Given the description of an element on the screen output the (x, y) to click on. 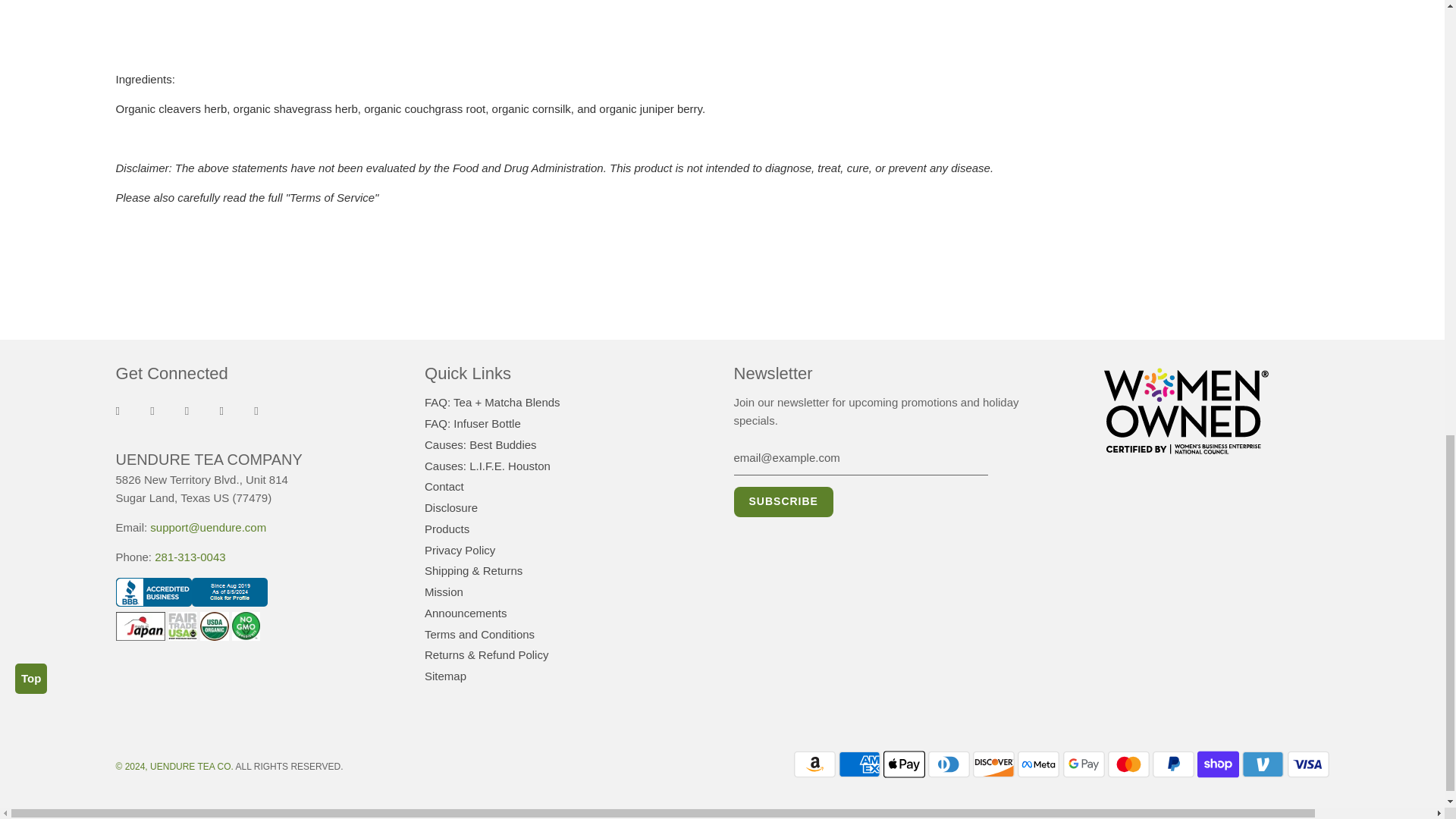
Apple Pay (903, 764)
Venmo (1262, 764)
Diners Club (948, 764)
A product of Japan (139, 625)
Shop Pay (1217, 764)
No GMO Ingredients (245, 625)
A Fair Trade Partner (182, 625)
Discover (993, 764)
Visa (1308, 764)
PayPal (1173, 764)
Mastercard (1129, 764)
USDA Organic (214, 625)
Subscribe (782, 501)
Google Pay (1083, 764)
American Express (859, 764)
